Given the description of an element on the screen output the (x, y) to click on. 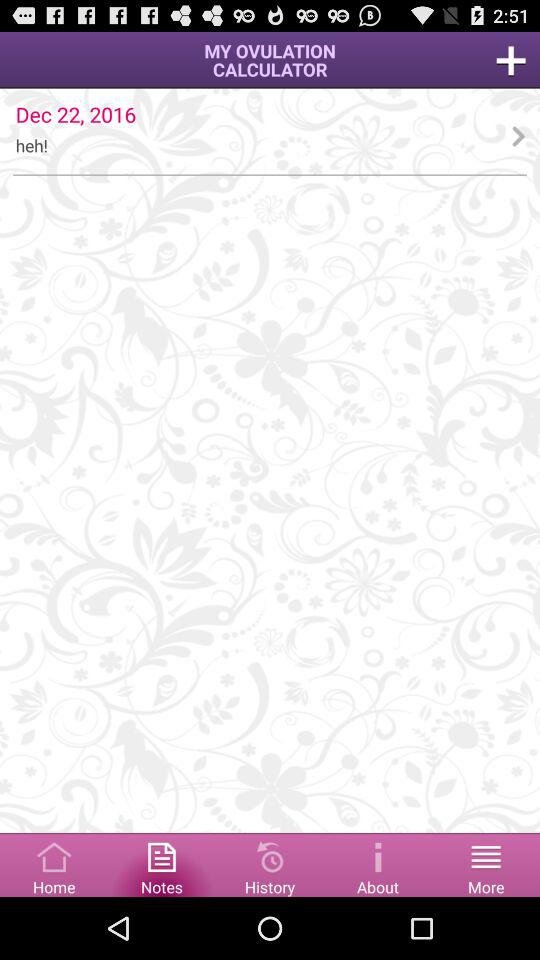
go home (54, 864)
